Given the description of an element on the screen output the (x, y) to click on. 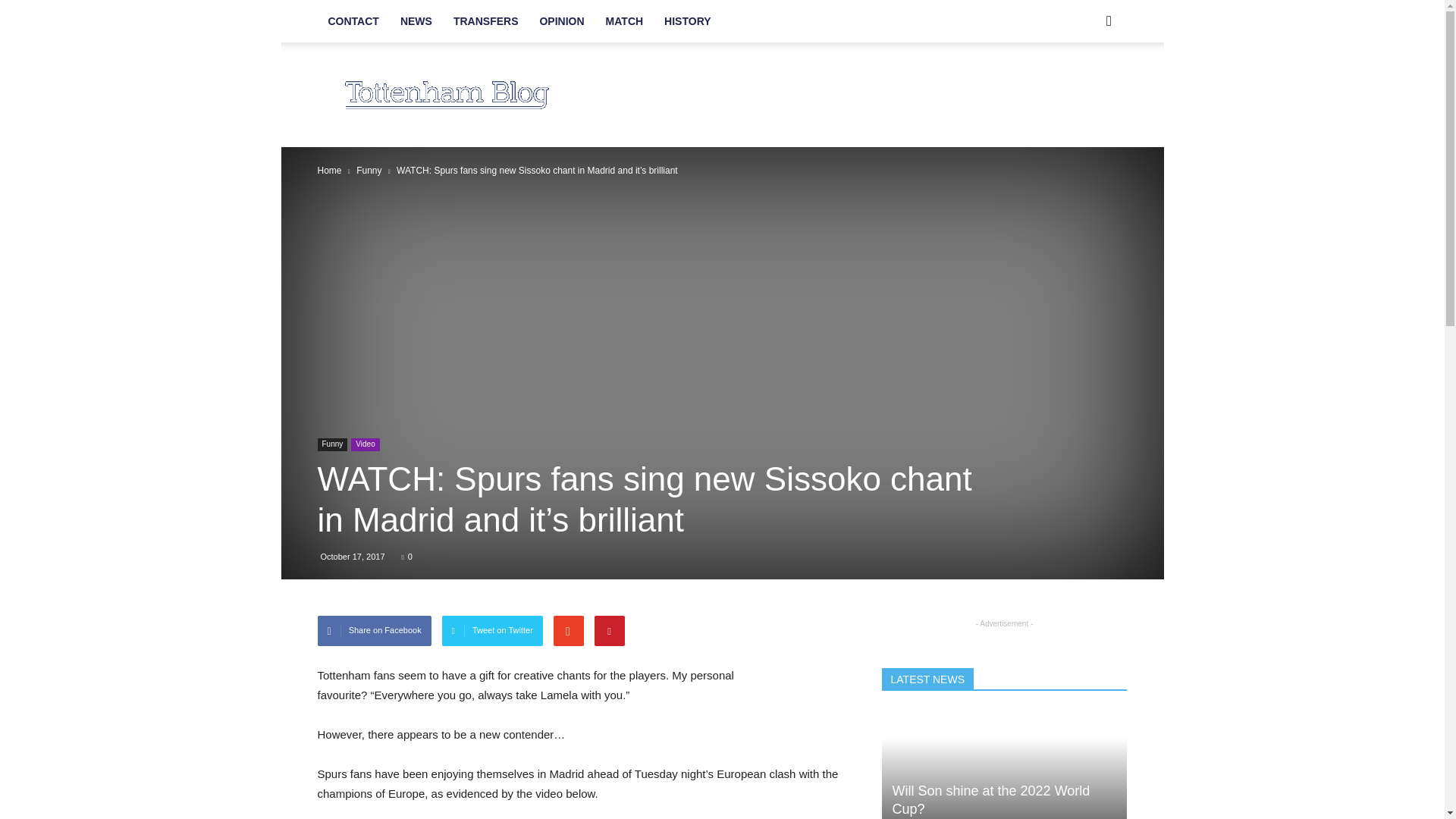
Tweet on Twitter (492, 630)
OPINION (561, 21)
TRANSFERS (485, 21)
0 (406, 556)
Share on Facebook (373, 630)
Video (364, 444)
Funny (332, 444)
Funny (368, 170)
Will Son shine at the 2022 World Cup? (990, 799)
HISTORY (686, 21)
NEWS (416, 21)
Home (328, 170)
CONTACT (352, 21)
View all posts in Funny (368, 170)
Will Son shine at the 2022 World Cup? (1003, 764)
